Given the description of an element on the screen output the (x, y) to click on. 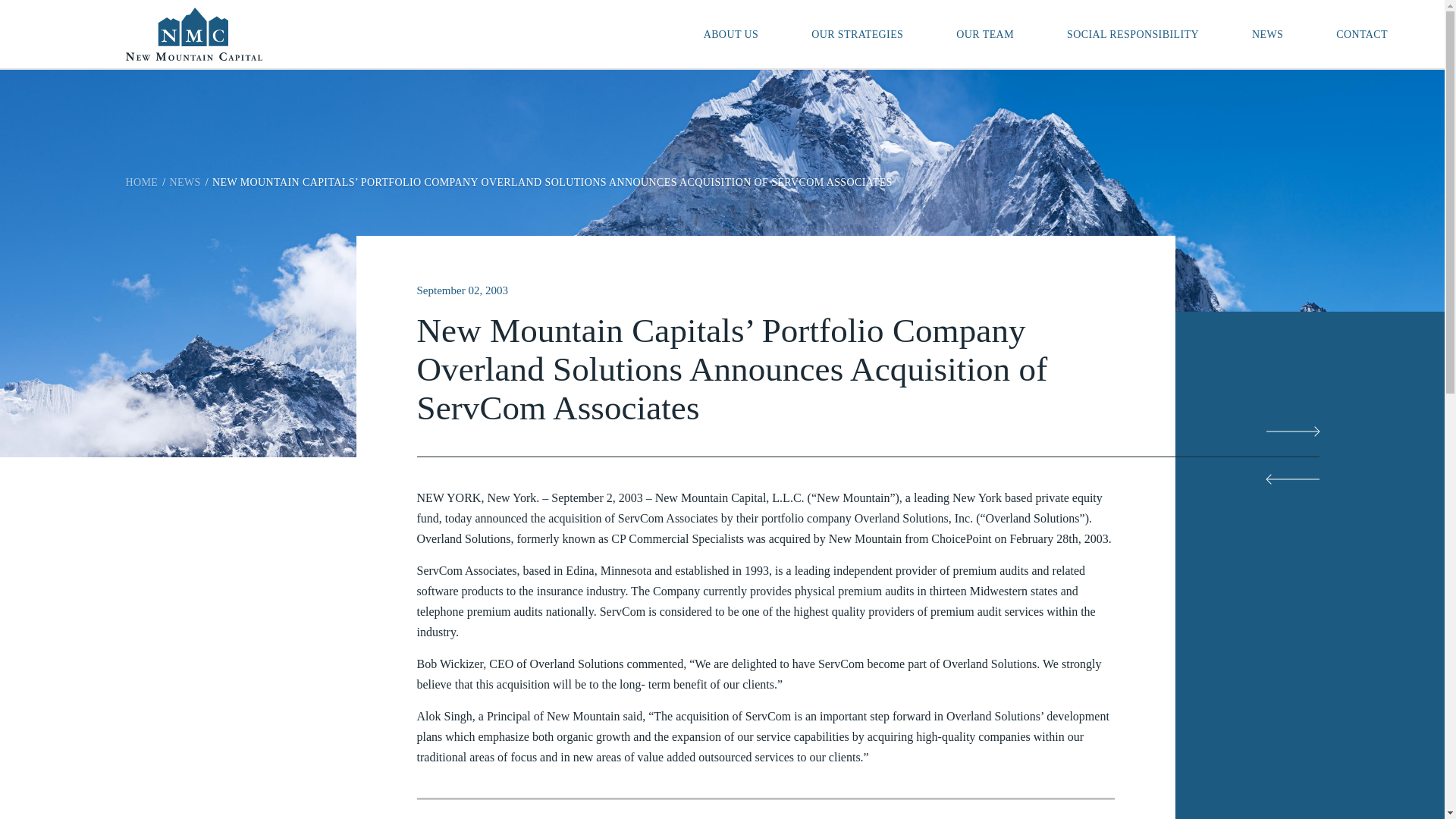
OUR TEAM (985, 33)
SOCIAL RESPONSIBILITY (1133, 33)
OUR STRATEGIES (857, 33)
HOME (141, 182)
ABOUT US (731, 33)
NEWS (185, 182)
CONTACT (1360, 33)
NEWS (1266, 33)
